Given the description of an element on the screen output the (x, y) to click on. 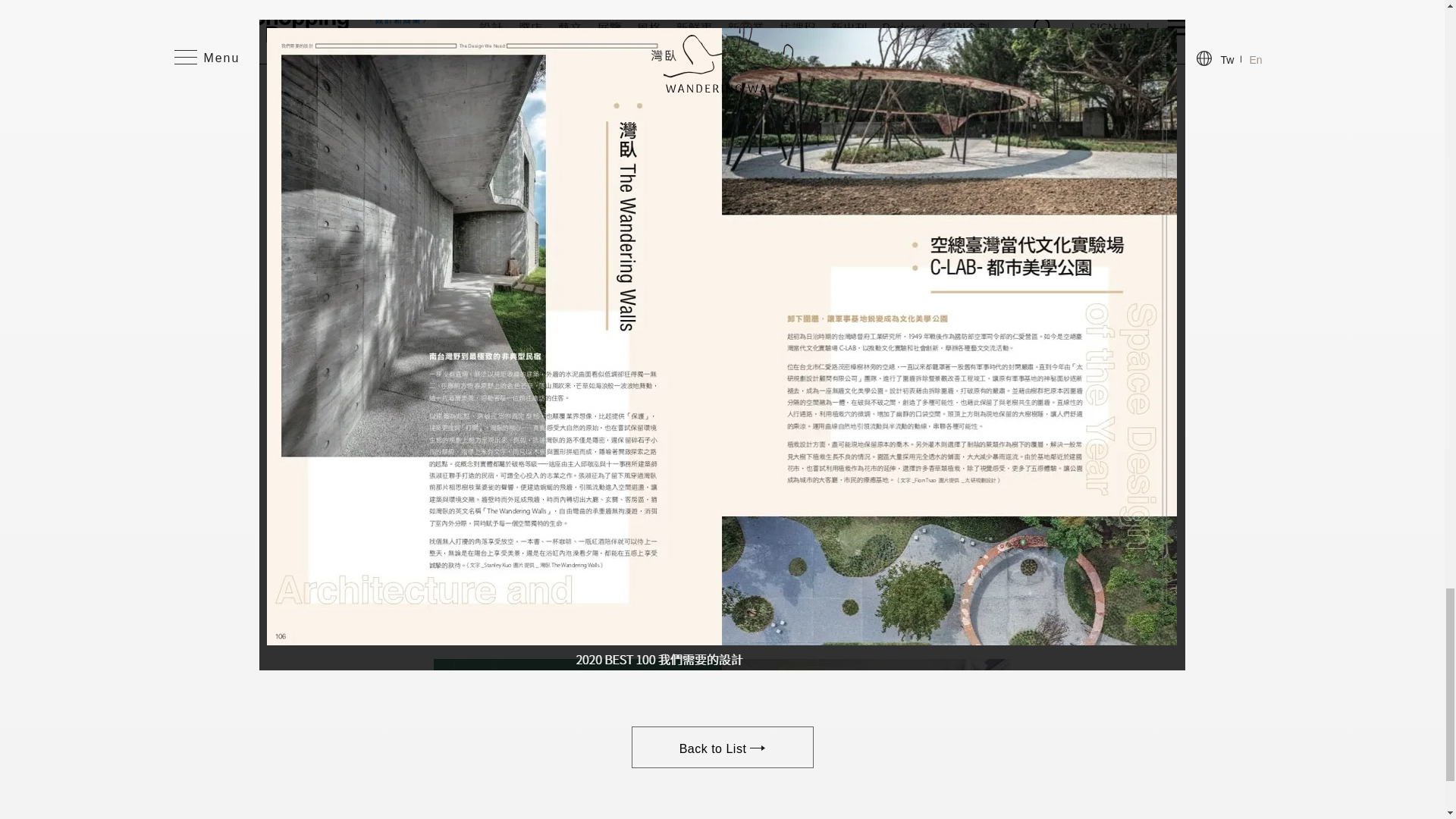
Back to List (721, 747)
Back to List (721, 747)
